Given the description of an element on the screen output the (x, y) to click on. 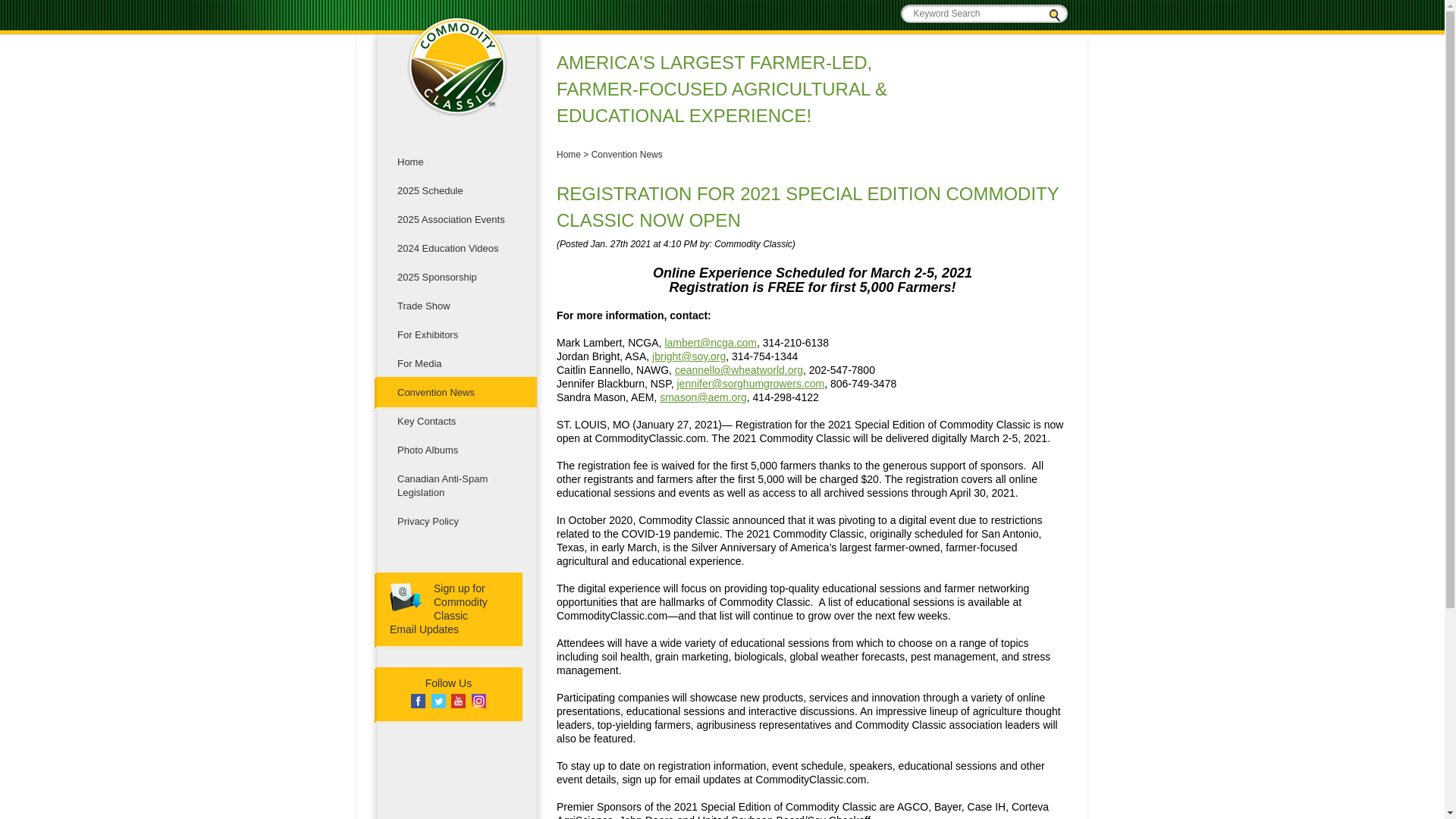
Convention News (626, 154)
Canadian Anti-Spam Legislation (455, 485)
Convention News (438, 608)
Home (455, 392)
For Exhibitors (455, 162)
2025 Sponsorship (455, 335)
2025 Schedule (455, 276)
2025 Association Events (455, 190)
Home (455, 219)
Privacy Policy (568, 154)
Trade Show (455, 521)
Photo Albums (455, 306)
For Media (455, 450)
2024 Education Videos (455, 363)
